Given the description of an element on the screen output the (x, y) to click on. 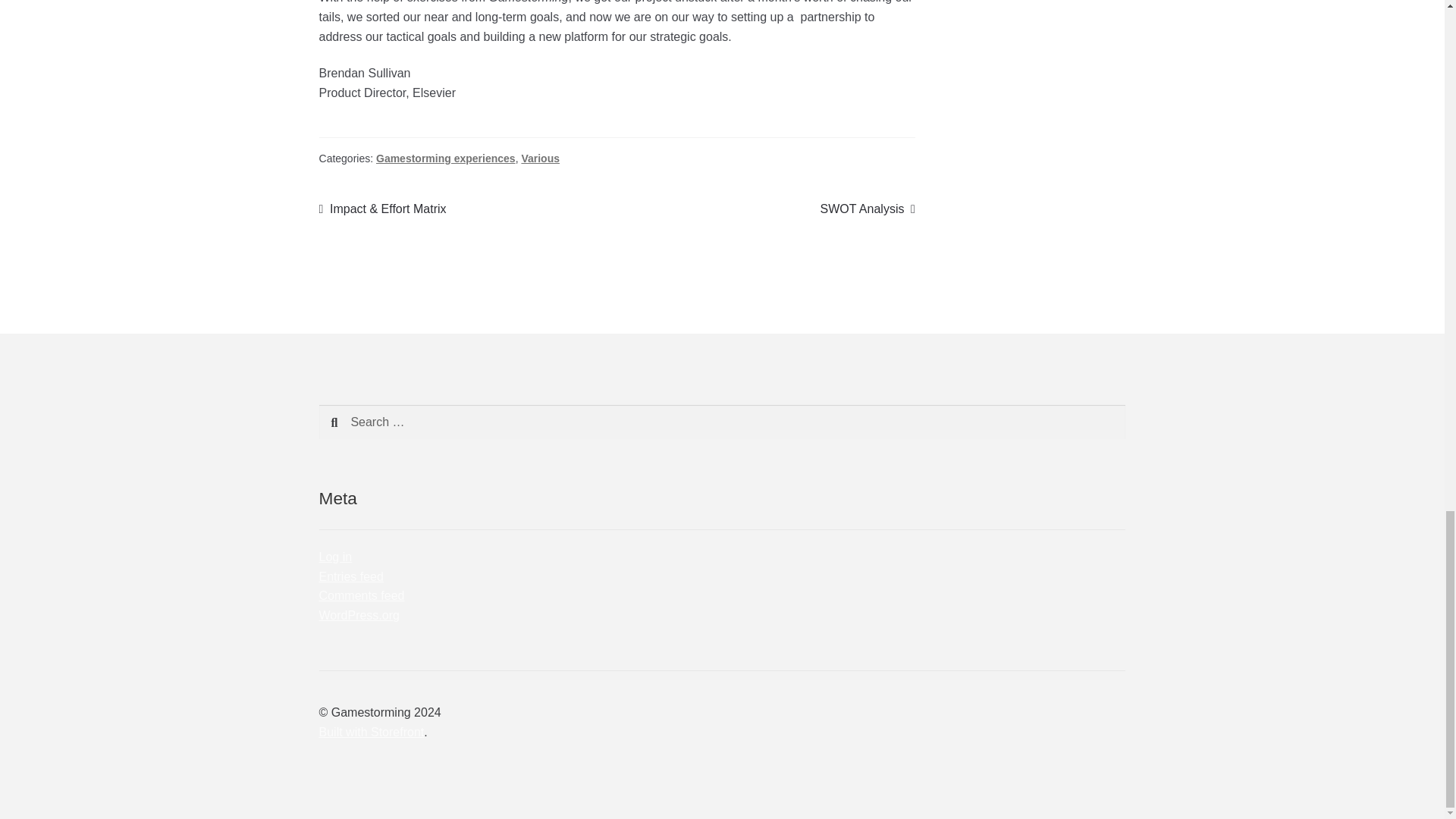
Gamestorming experiences (445, 158)
Various (540, 158)
